Given the description of an element on the screen output the (x, y) to click on. 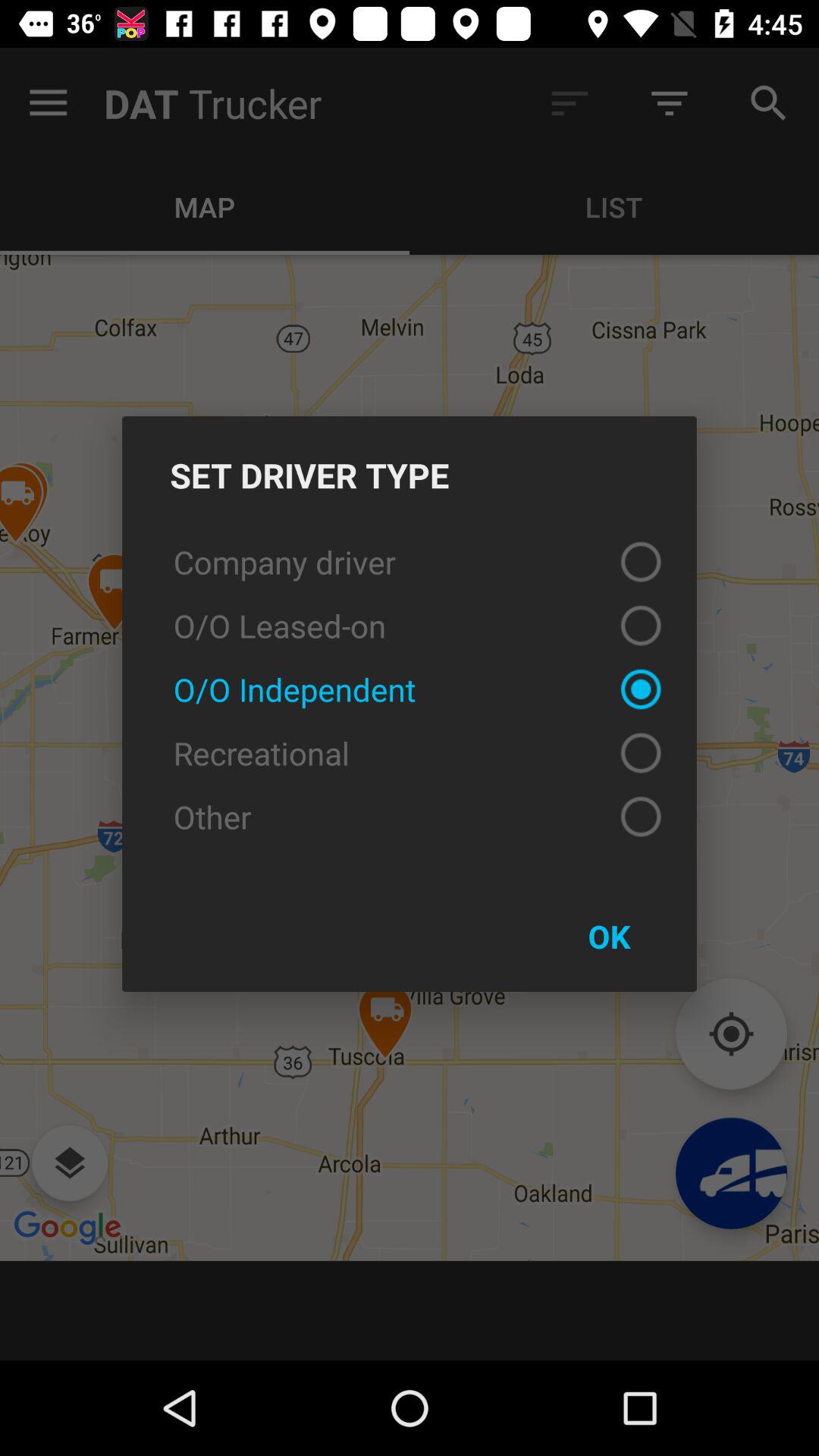
open the item below the set driver type icon (409, 561)
